Given the description of an element on the screen output the (x, y) to click on. 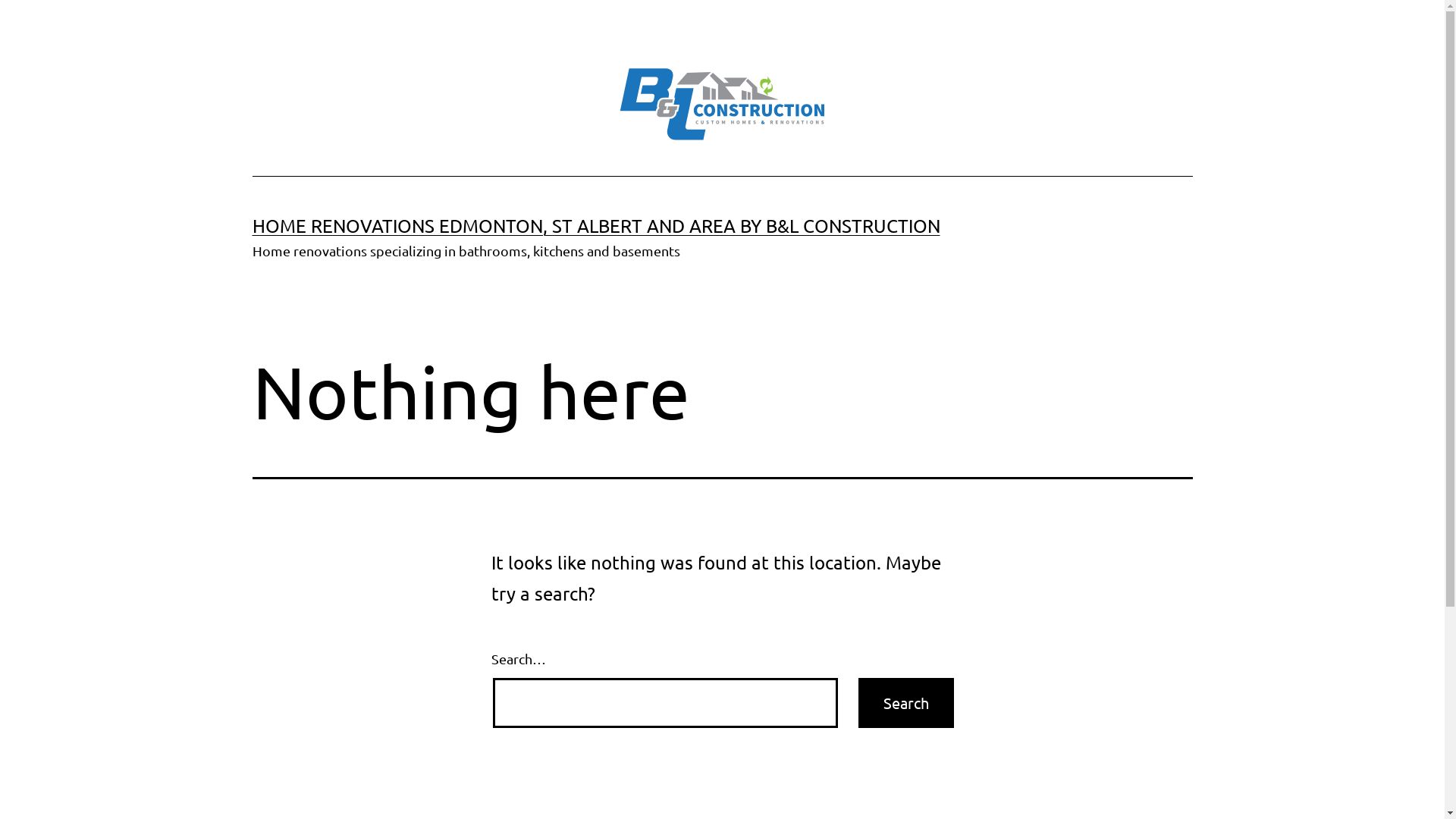
Search Element type: text (905, 702)
